Given the description of an element on the screen output the (x, y) to click on. 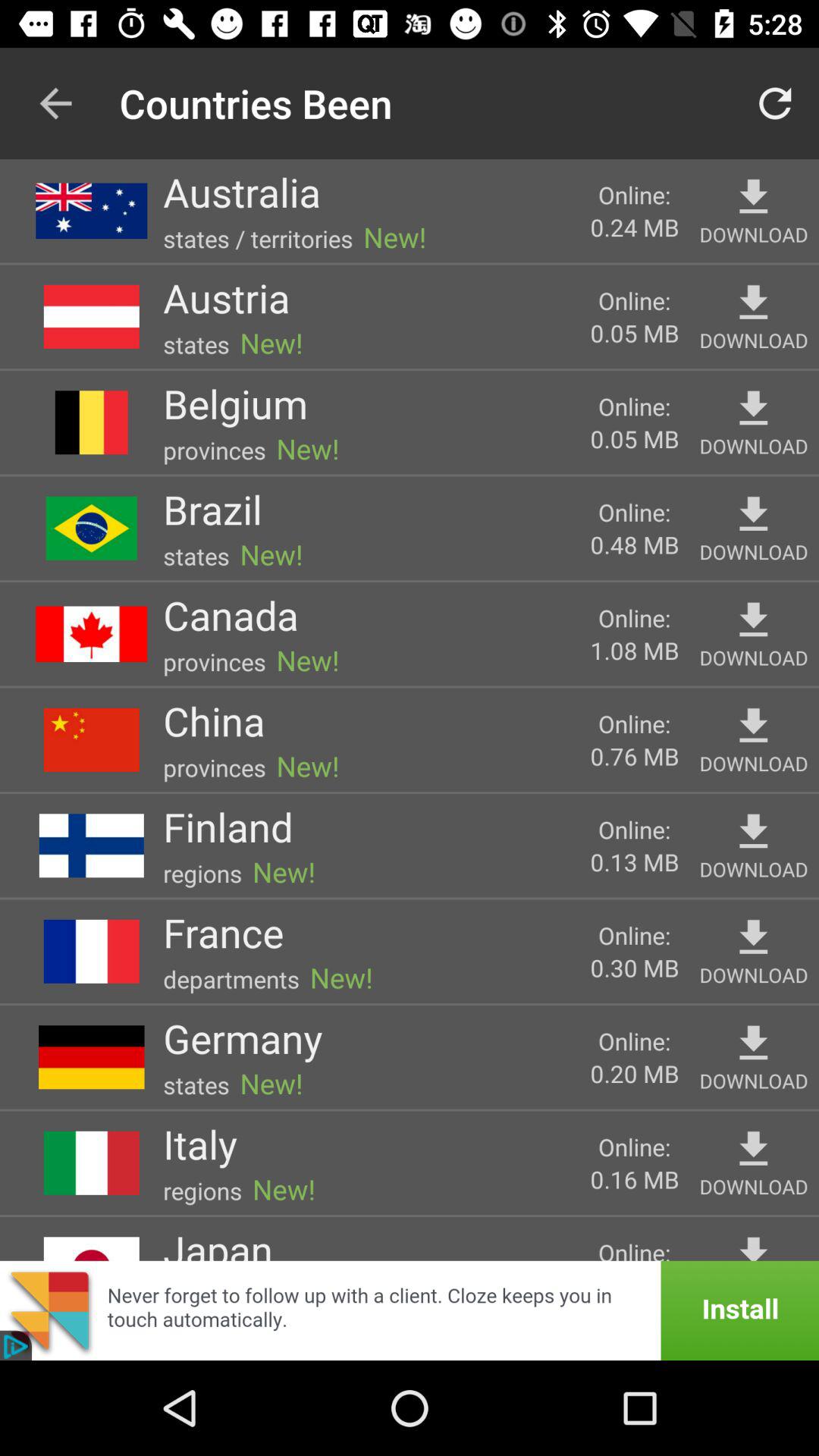
choose item to the left of 0.05 mb item (226, 297)
